Given the description of an element on the screen output the (x, y) to click on. 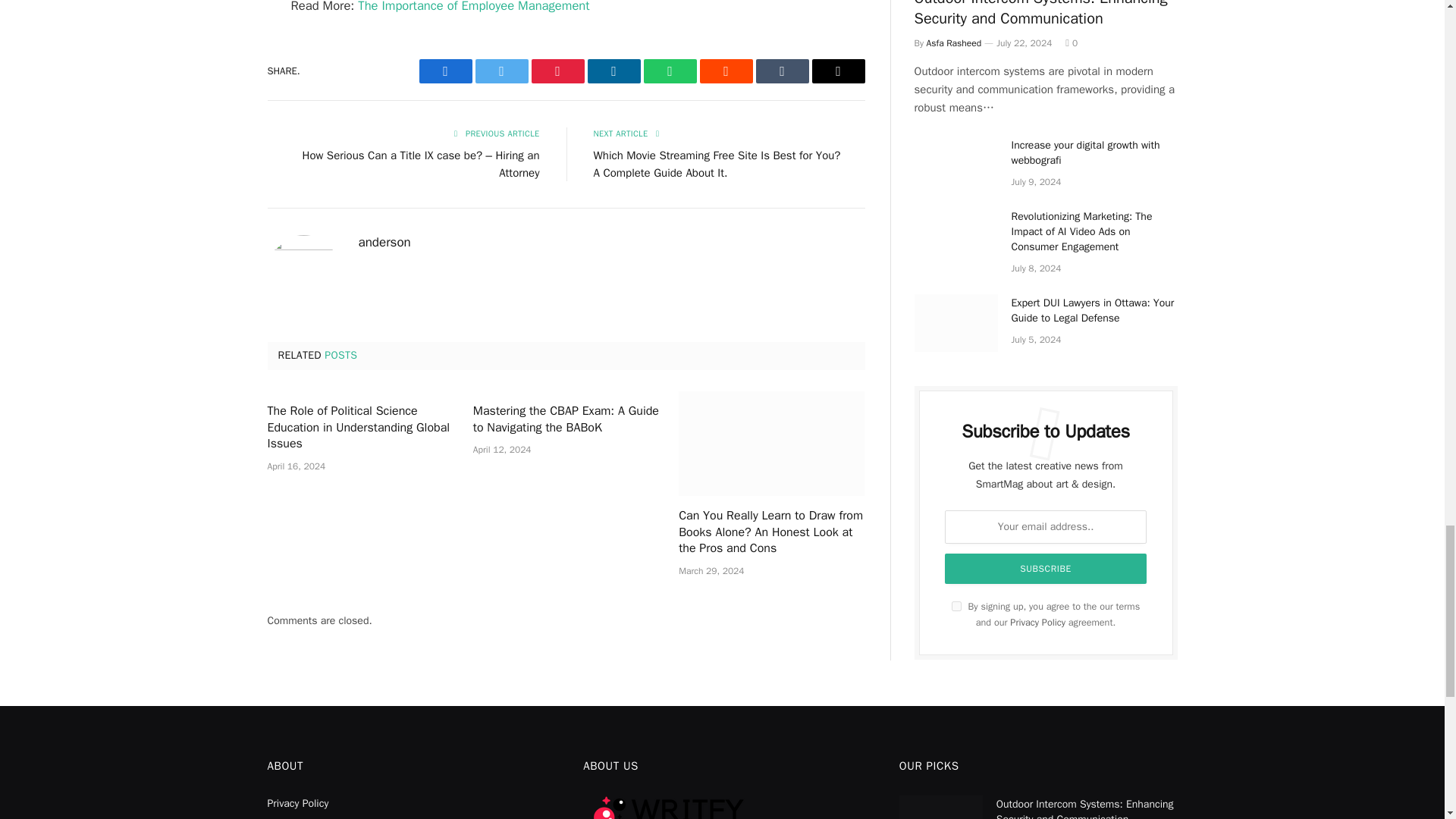
on (956, 605)
Subscribe (1045, 568)
Share on Facebook (445, 70)
